Given the description of an element on the screen output the (x, y) to click on. 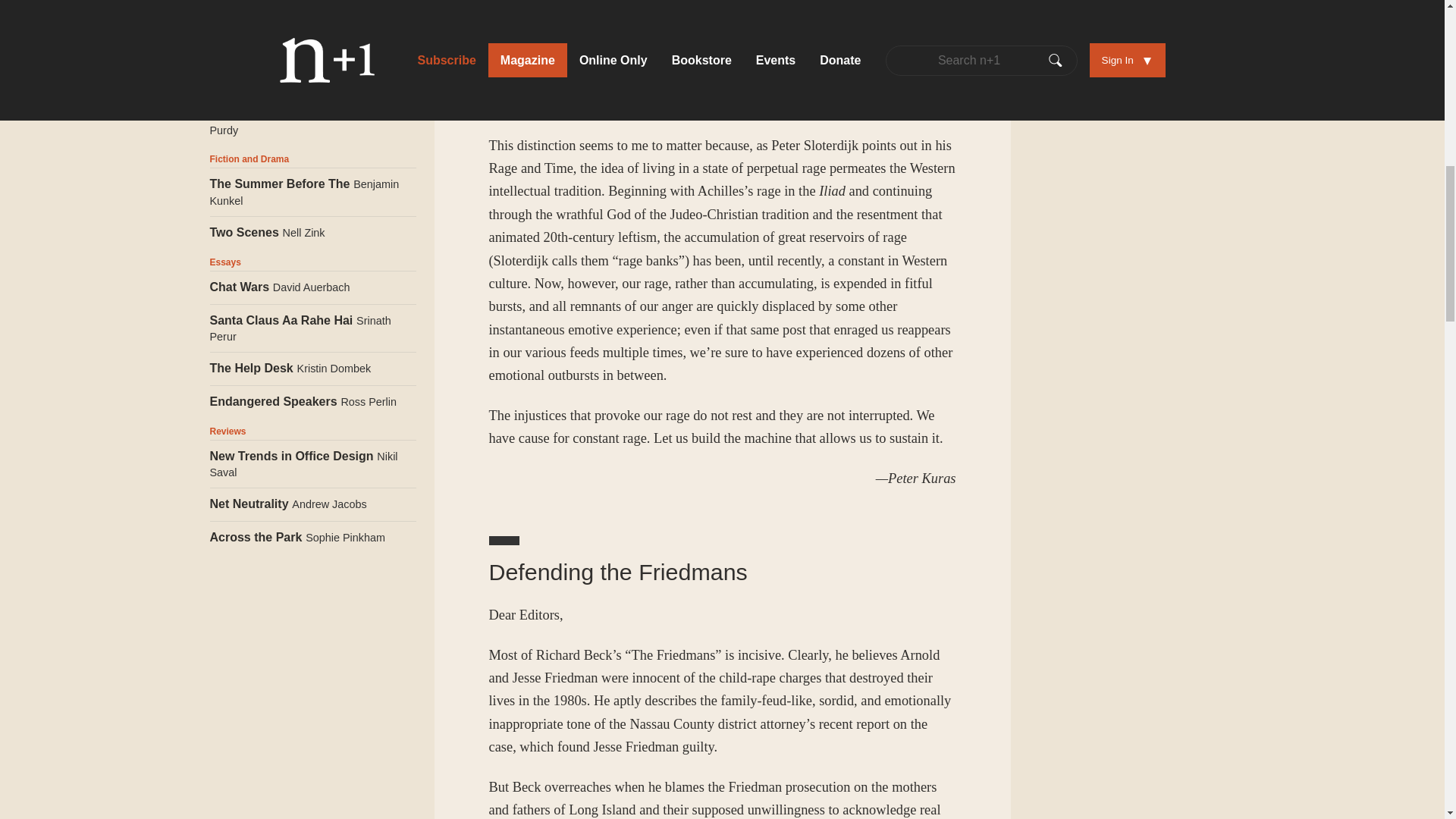
Endangered Speakers (311, 400)
The Accidental NeoliberalJedediah Purdy (311, 122)
Endangered SpeakersRoss Perlin (311, 400)
New Trends in Office Design (311, 464)
New Trends in Office DesignNikil Saval (311, 464)
The Summer Before The (311, 192)
Chat Wars (311, 287)
Santa Claus Aa Rahe Hai (311, 328)
The Accidental Neoliberal (311, 122)
Across the ParkSophie Pinkham (311, 537)
